Given the description of an element on the screen output the (x, y) to click on. 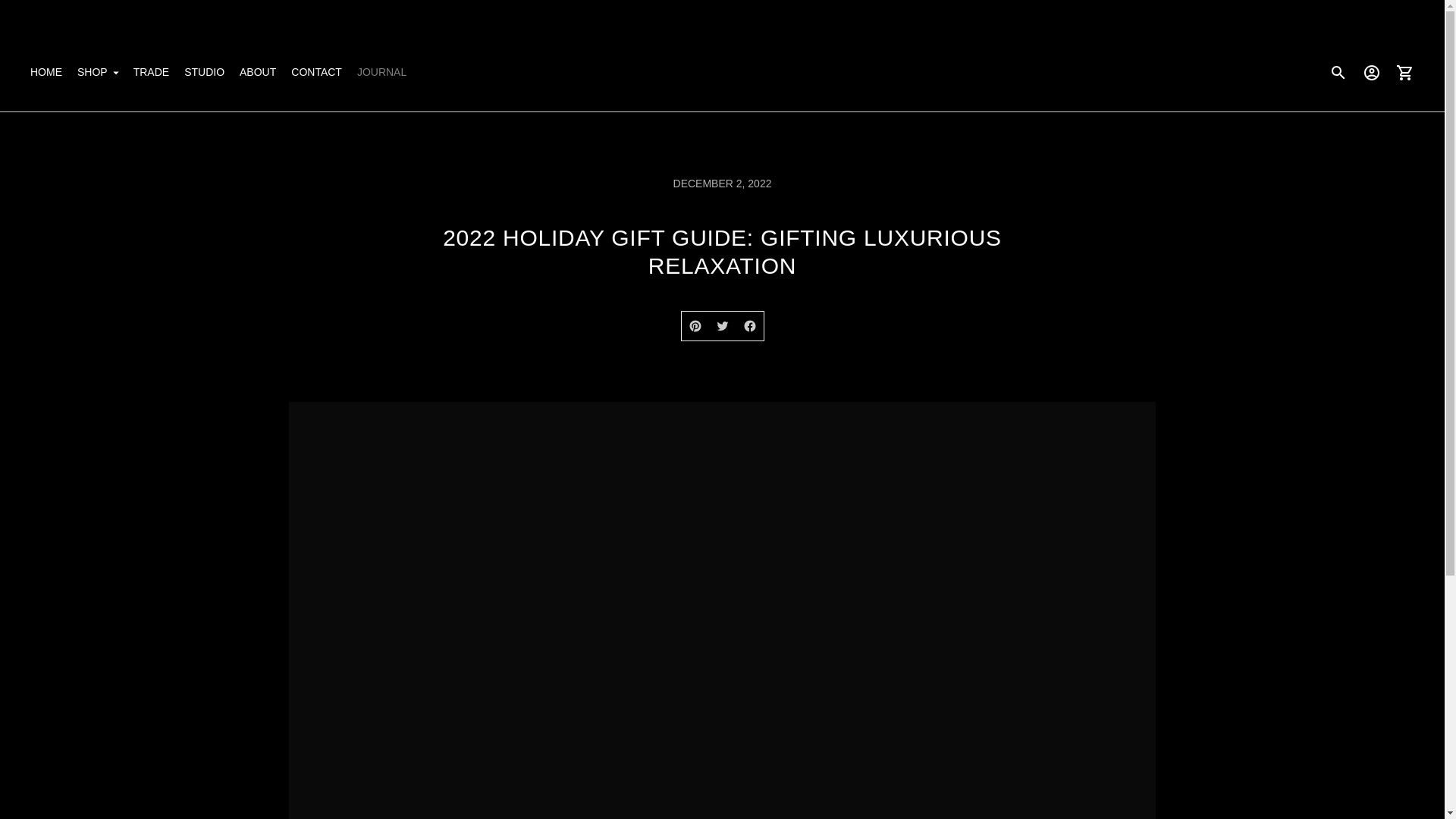
JOURNAL (381, 72)
ABOUT (258, 72)
CONTACT (316, 72)
STUDIO (204, 72)
HOME (46, 72)
SHOP (97, 72)
Share to Facebook (748, 326)
Cart (1405, 72)
Search (1338, 72)
TRADE (150, 72)
